Given the description of an element on the screen output the (x, y) to click on. 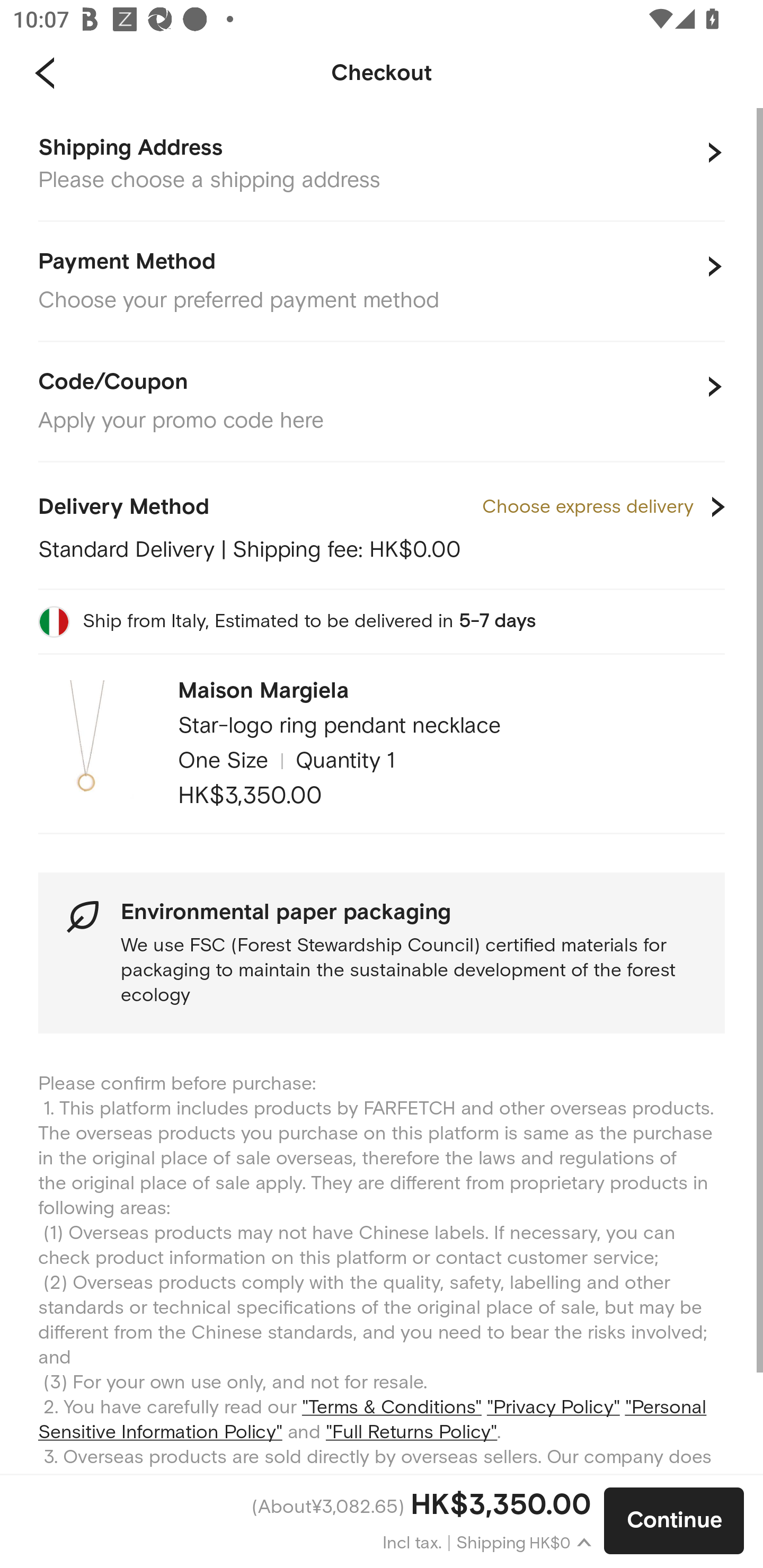
Shipping Address Please choose a shipping address (381, 165)
Code/Coupon Apply your promo code here (381, 401)
Continue (673, 1520)
